Given the description of an element on the screen output the (x, y) to click on. 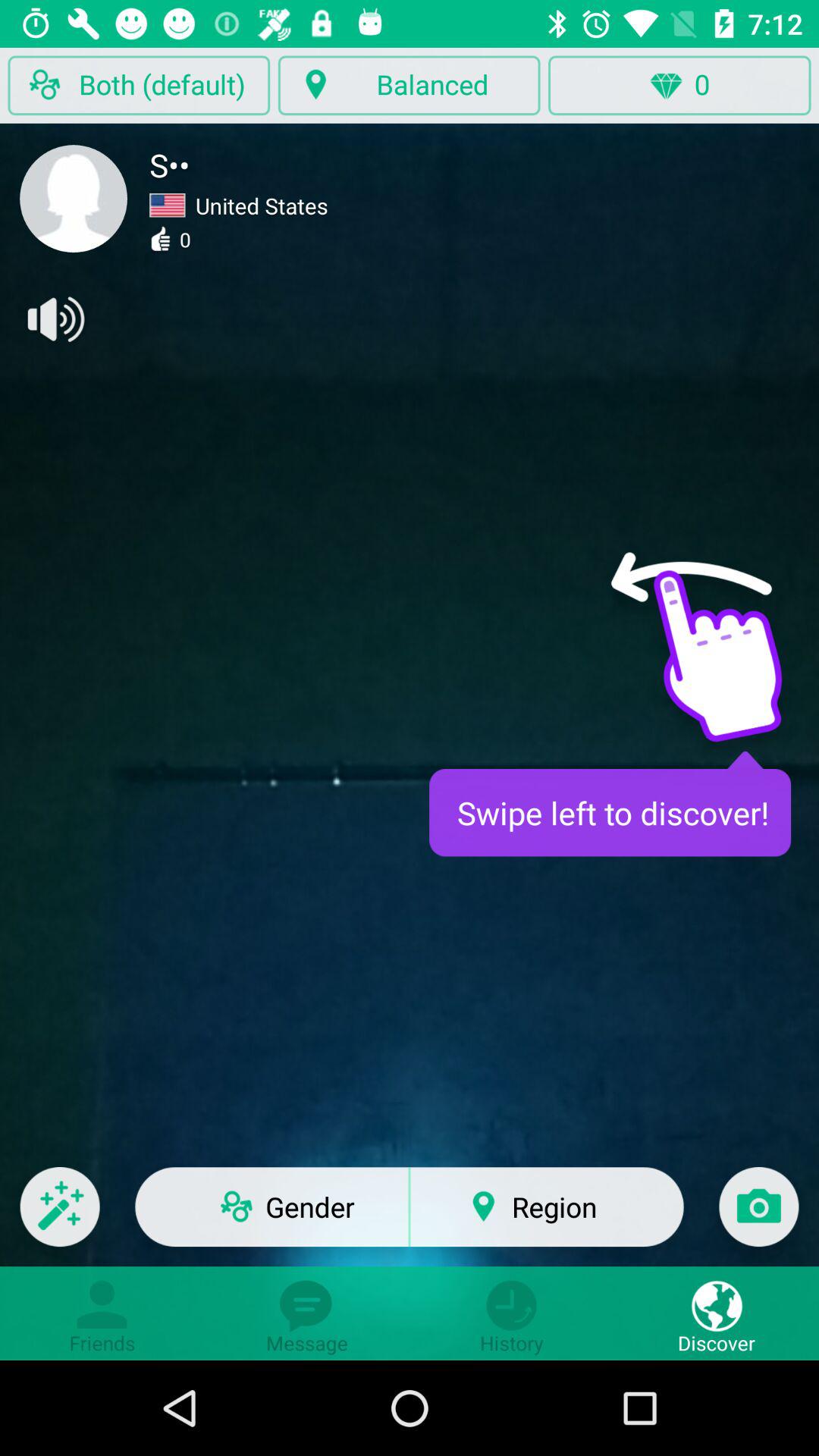
drawing tools (59, 1216)
